Given the description of an element on the screen output the (x, y) to click on. 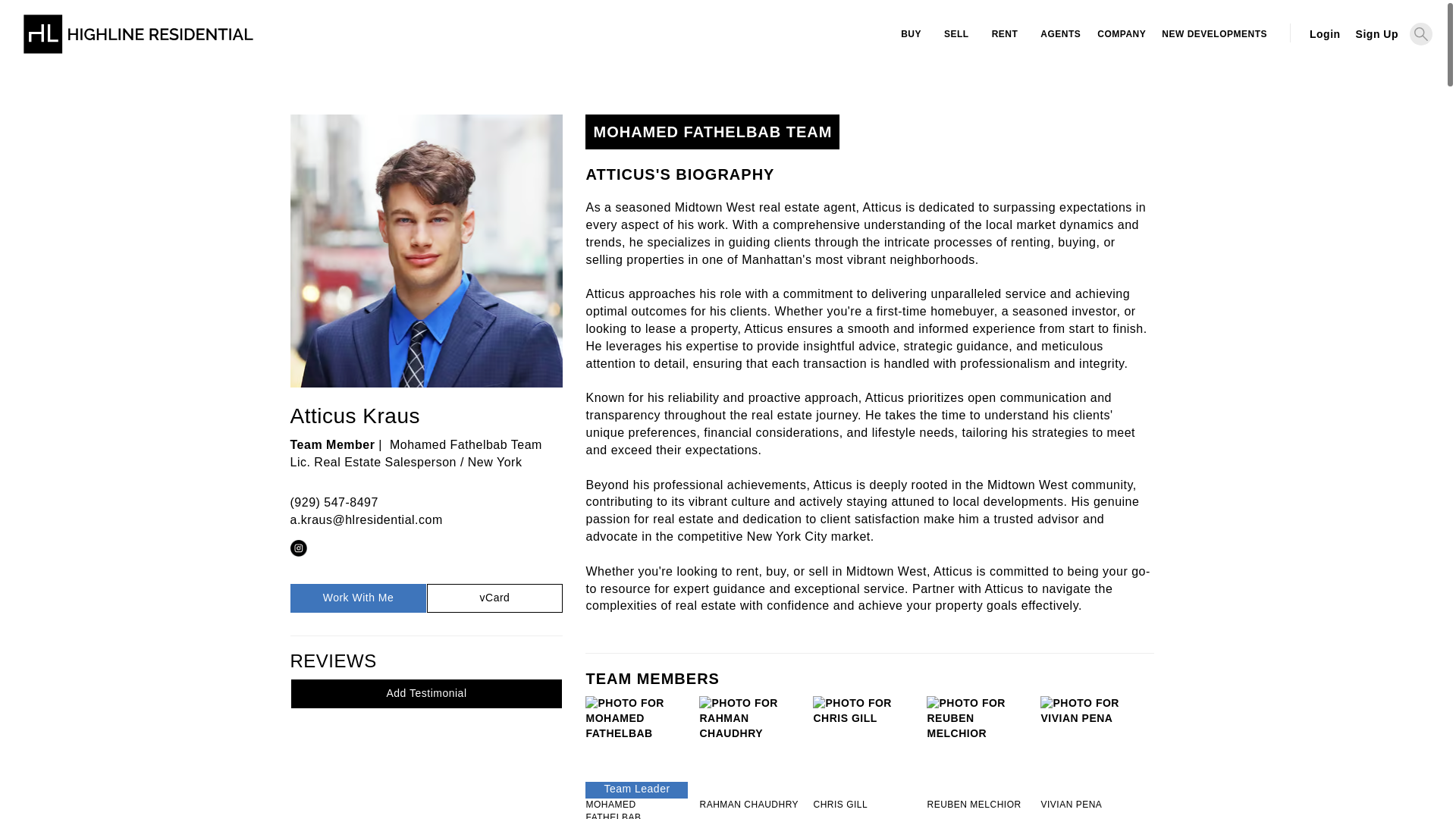
Login (1324, 33)
RAHMAN CHAUDHRY (750, 804)
Highline Residential (137, 41)
VIVIAN PENA (1091, 804)
MOHAMED FATHELBAB (636, 808)
SELL (956, 33)
BUY (911, 33)
RENT (1004, 33)
Highline Residential Agents (1059, 33)
Work With Me (357, 597)
